Given the description of an element on the screen output the (x, y) to click on. 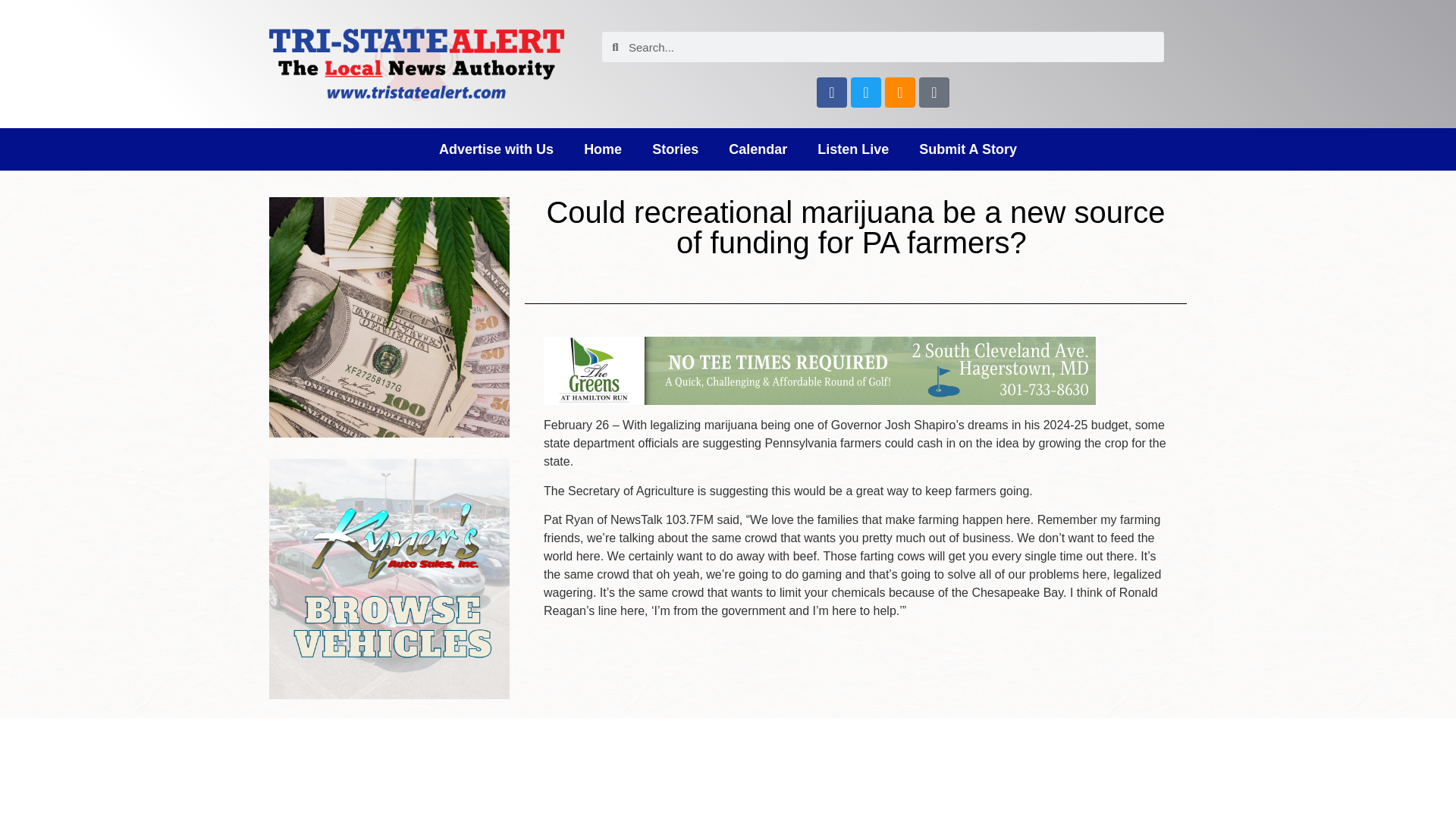
Stories (675, 148)
Calendar (757, 148)
Listen Live (853, 148)
Advertise with Us (496, 148)
Home (603, 148)
Submit A Story (968, 148)
